Given the description of an element on the screen output the (x, y) to click on. 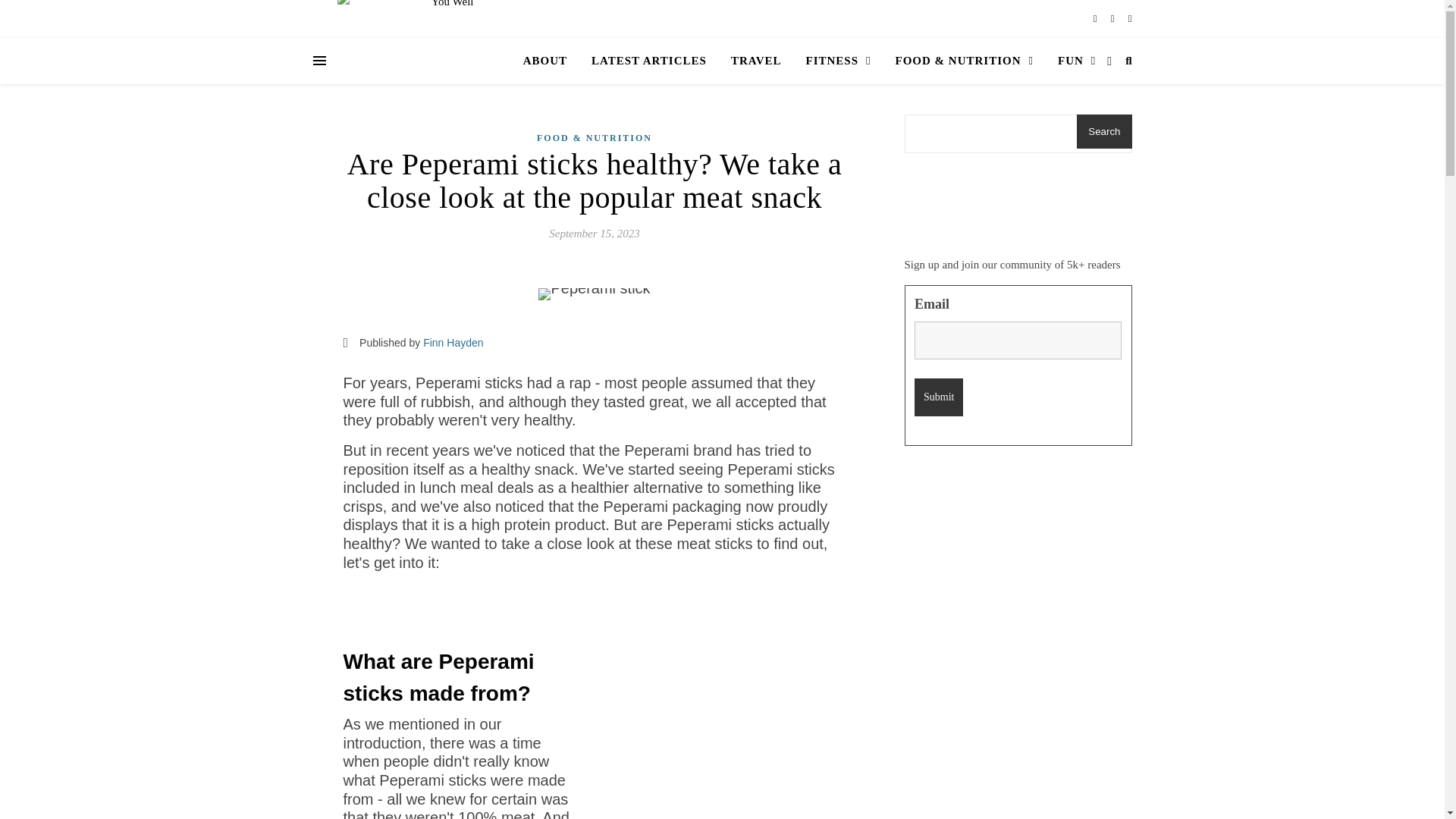
FITNESS (837, 60)
ABOUT (550, 60)
LATEST ARTICLES (649, 60)
You Well (404, 64)
Submit (938, 397)
TRAVEL (756, 60)
FUN (1070, 60)
